Given the description of an element on the screen output the (x, y) to click on. 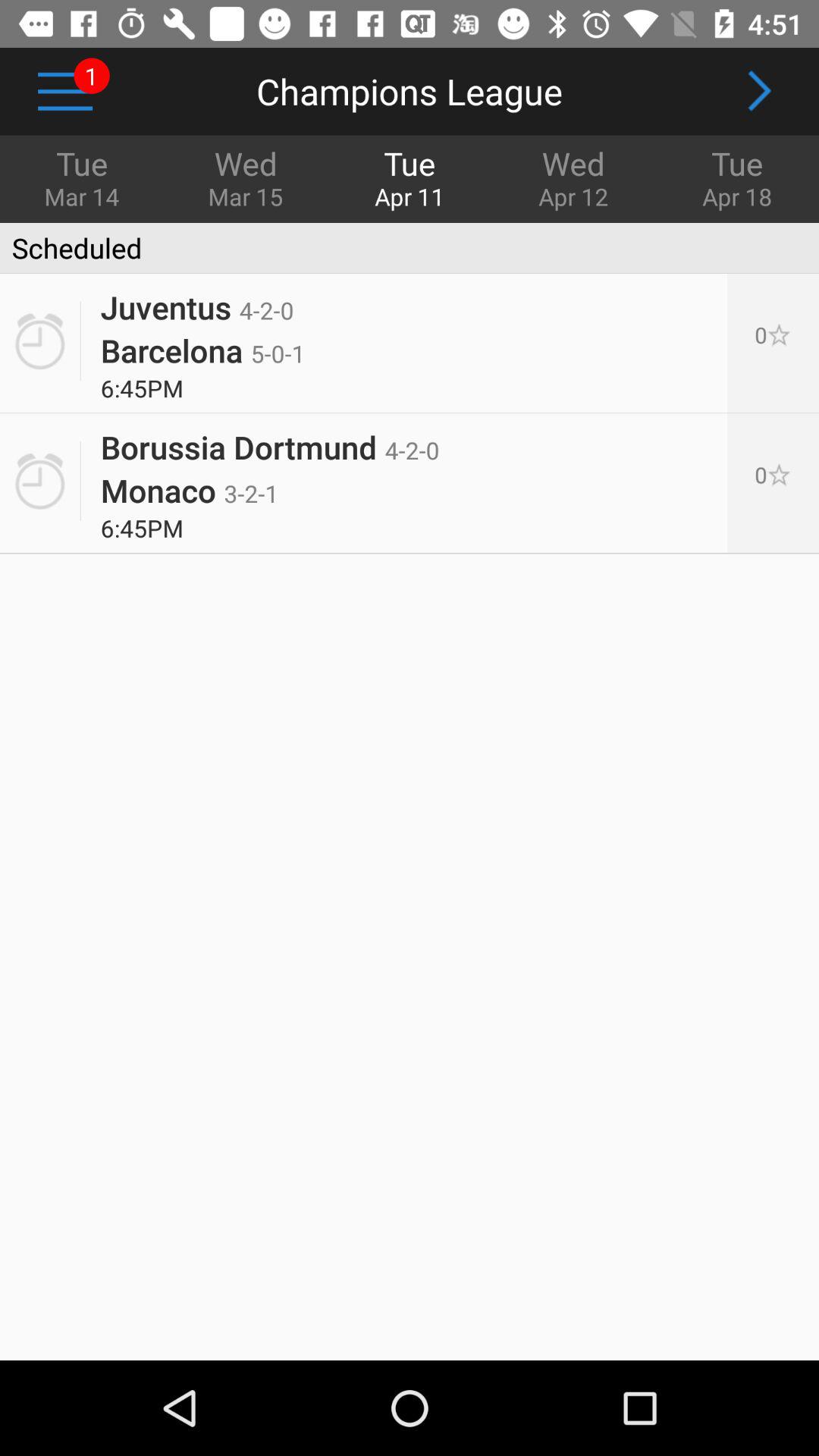
select the icon above the tue
apr 18 (758, 91)
